Given the description of an element on the screen output the (x, y) to click on. 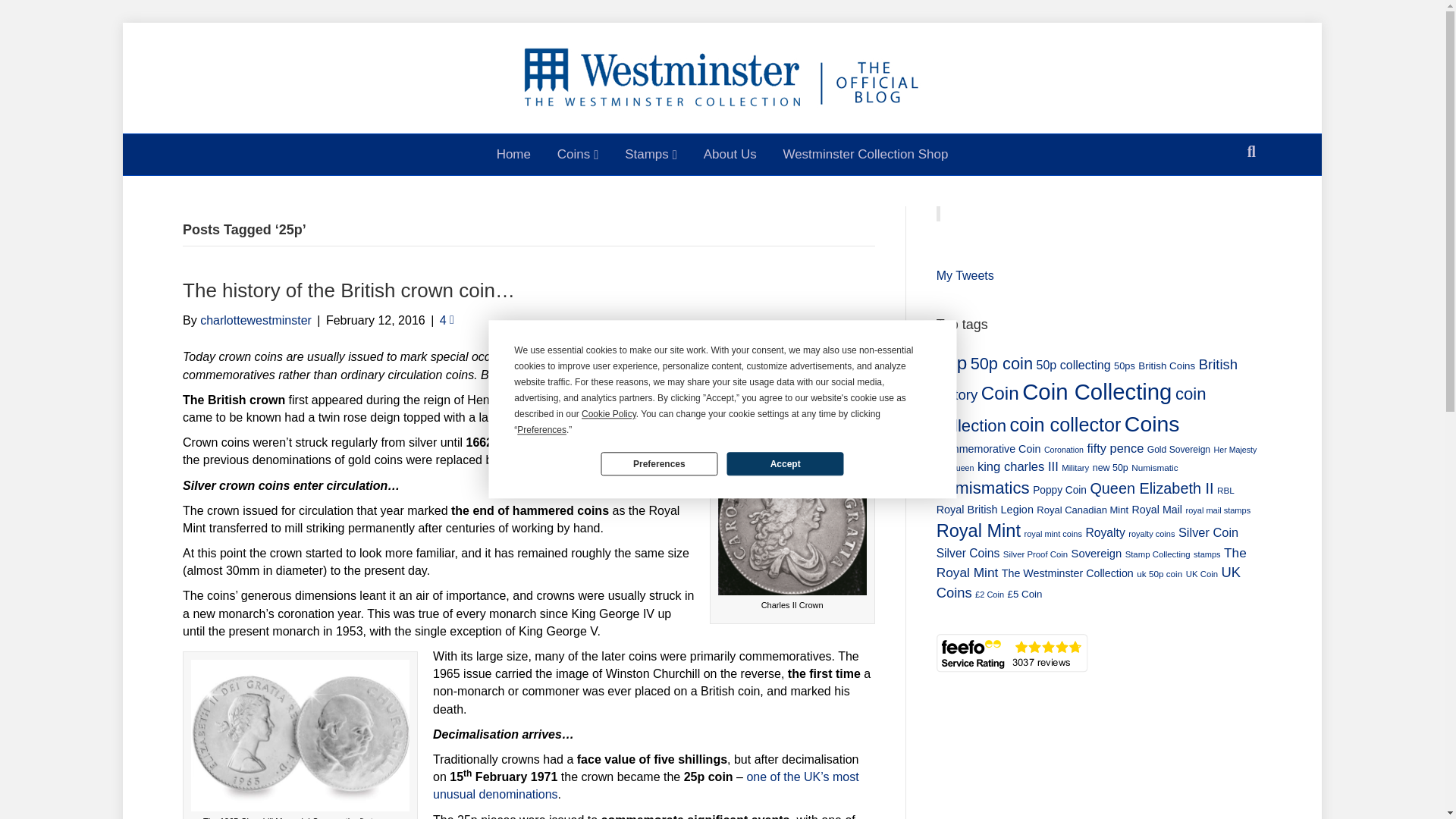
See what our customers say about us (1011, 652)
charlottewestminster (255, 319)
The history of the British crown coin... (299, 735)
Accept (784, 463)
Stamps (650, 154)
The history of the British crown coin... (791, 520)
About Us (730, 154)
Coins (578, 154)
4 (446, 319)
Westminster Collection Shop (865, 154)
Preferences (658, 463)
Home (512, 154)
